Given the description of an element on the screen output the (x, y) to click on. 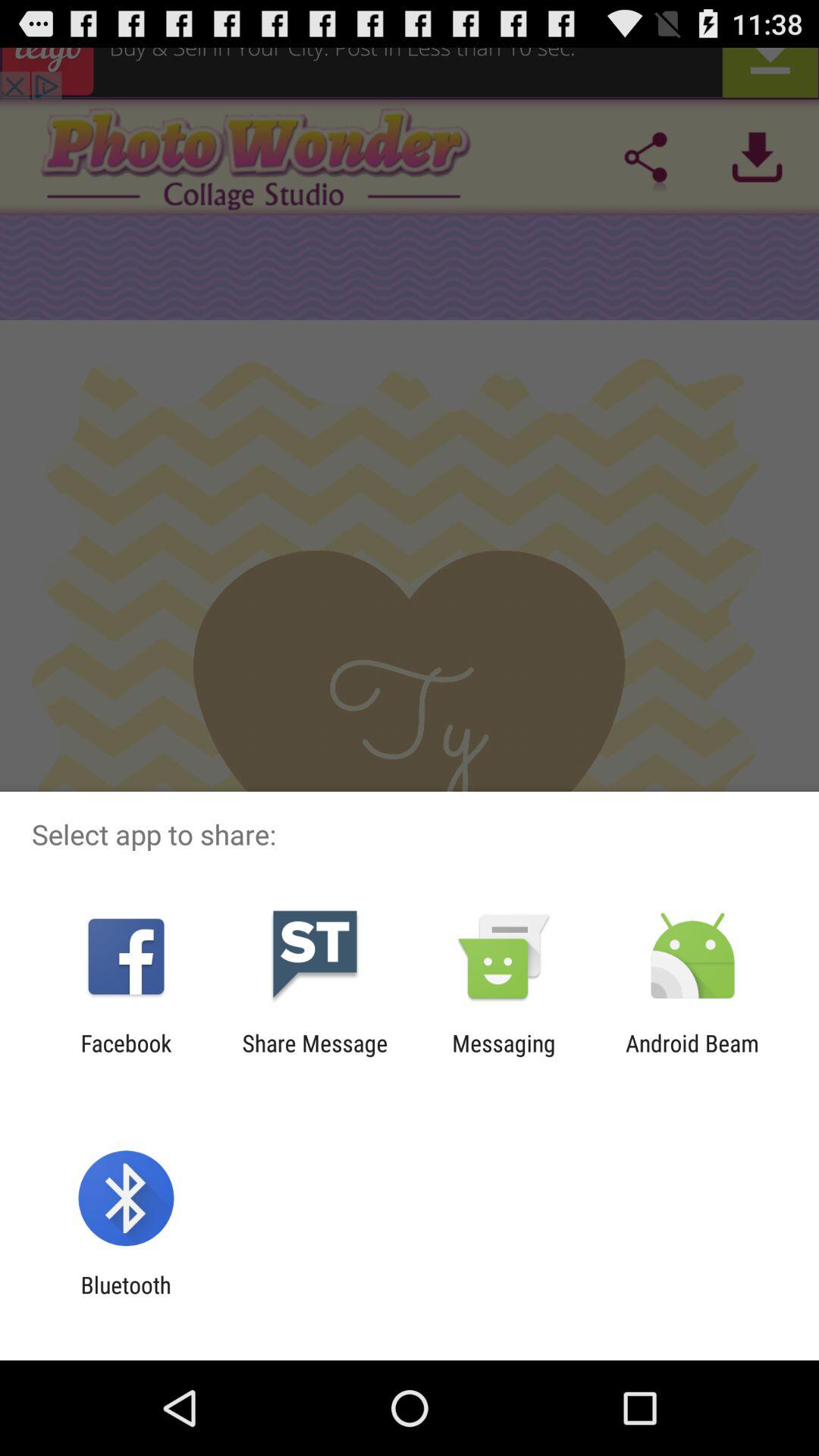
turn on the app to the right of facebook (314, 1056)
